Given the description of an element on the screen output the (x, y) to click on. 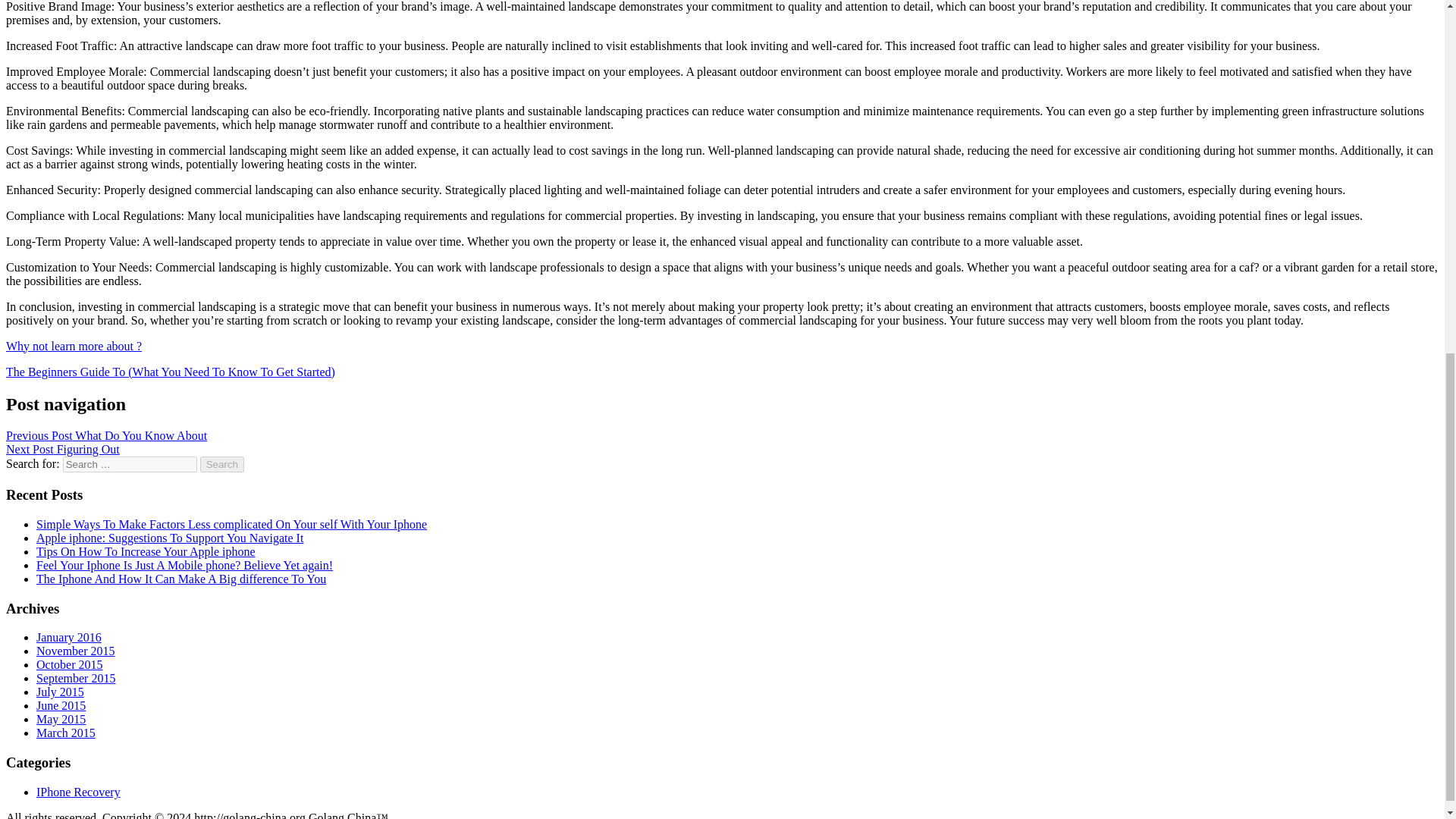
March 2015 (66, 732)
Search (222, 464)
Search (222, 464)
Feel Your Iphone Is Just A Mobile phone? Believe Yet again! (184, 564)
January 2016 (68, 636)
IPhone Recovery (78, 791)
Search (222, 464)
September 2015 (75, 677)
The Iphone And How It Can Make A Big difference To You (181, 578)
June 2015 (60, 705)
